Given the description of an element on the screen output the (x, y) to click on. 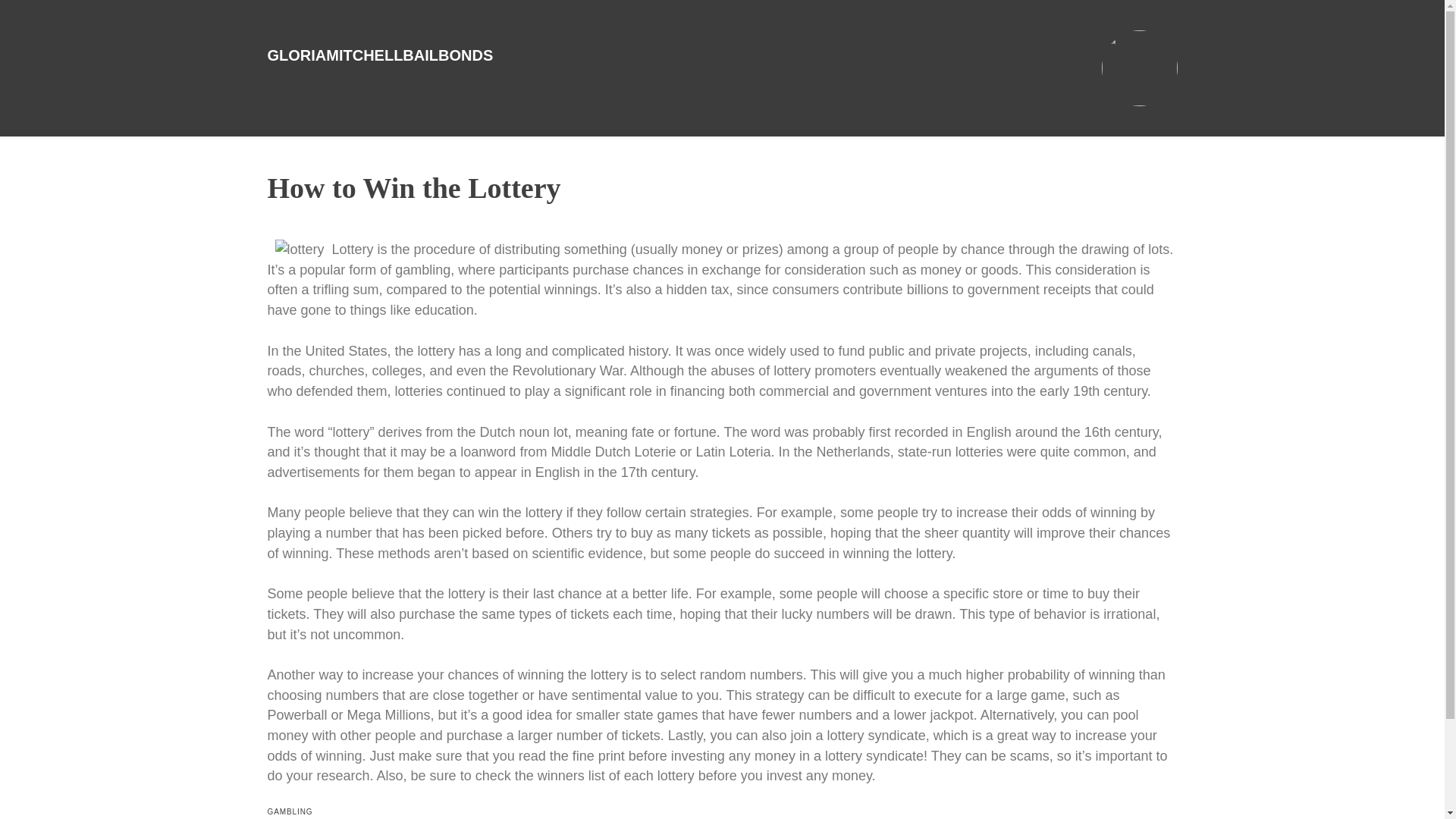
gloriamitchellbailbonds (379, 54)
GLORIAMITCHELLBAILBONDS (379, 54)
GAMBLING (289, 811)
